Given the description of an element on the screen output the (x, y) to click on. 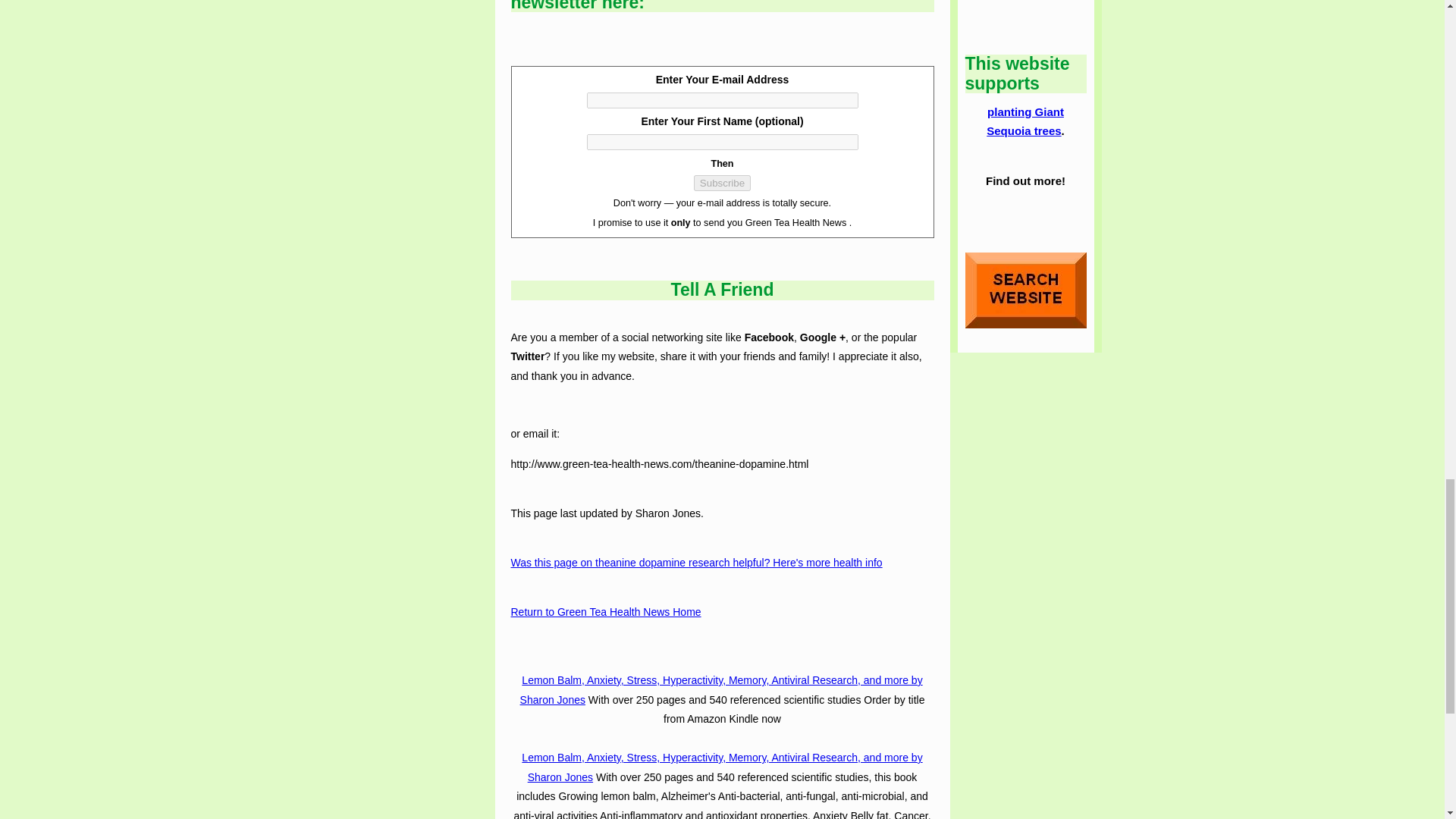
Return to Green Tea Health News Home (606, 611)
Subscribe (722, 182)
